Given the description of an element on the screen output the (x, y) to click on. 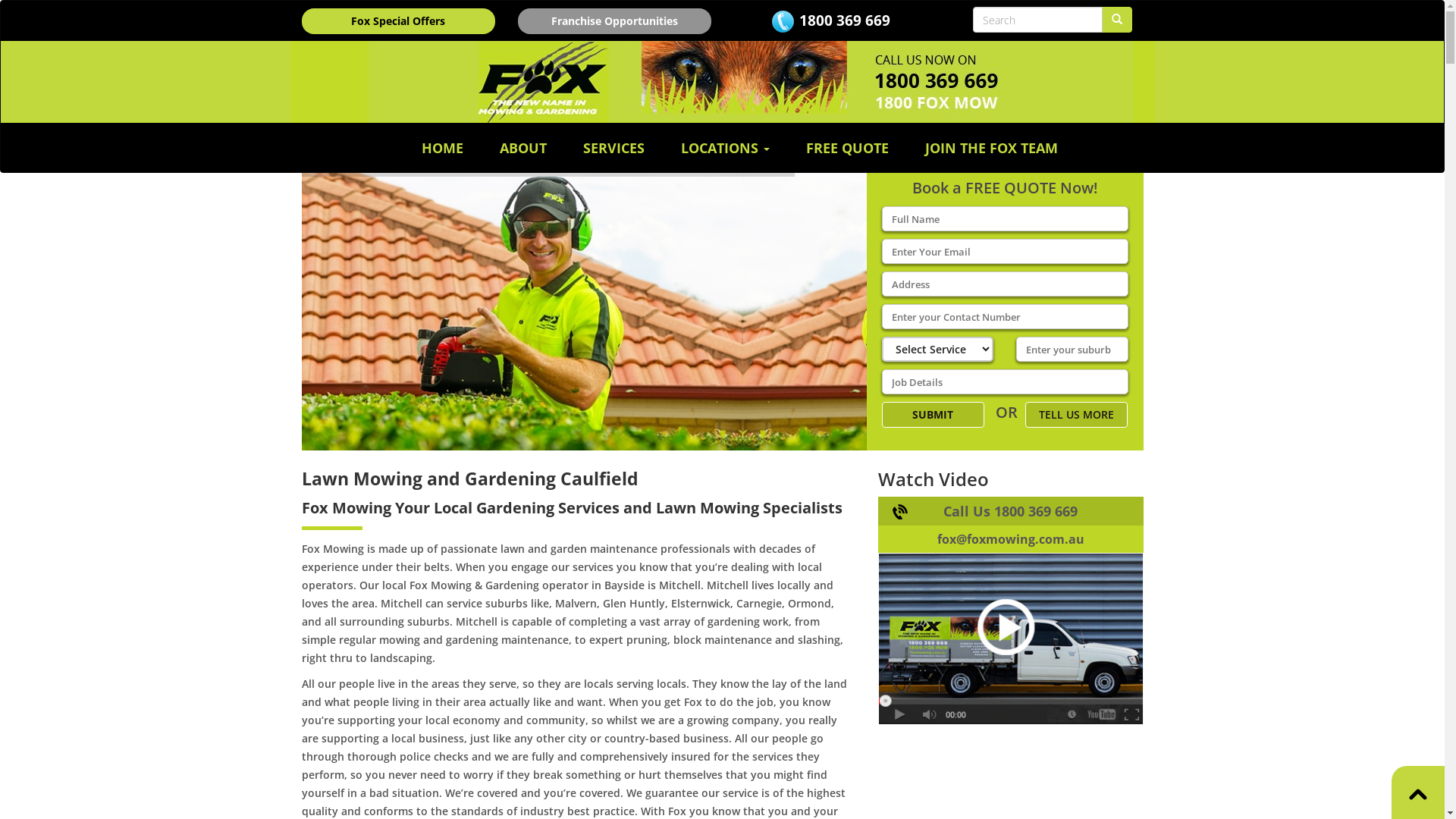
TELL US MORE Element type: text (1076, 414)
FREE QUOTE Element type: text (846, 147)
LOCATIONS Element type: text (724, 147)
Fox Logo Element type: hover (721, 81)
ABOUT Element type: text (522, 147)
Fox Mowing VIC Element type: hover (1010, 610)
HOME Element type: text (442, 147)
JOIN THE FOX TEAM Element type: text (991, 147)
SERVICES Element type: text (613, 147)
Franchise Opportunities Element type: text (613, 21)
Fox Special Offers Element type: text (398, 21)
SUBMIT Element type: text (932, 414)
1800 369 669 Element type: text (844, 20)
